Given the description of an element on the screen output the (x, y) to click on. 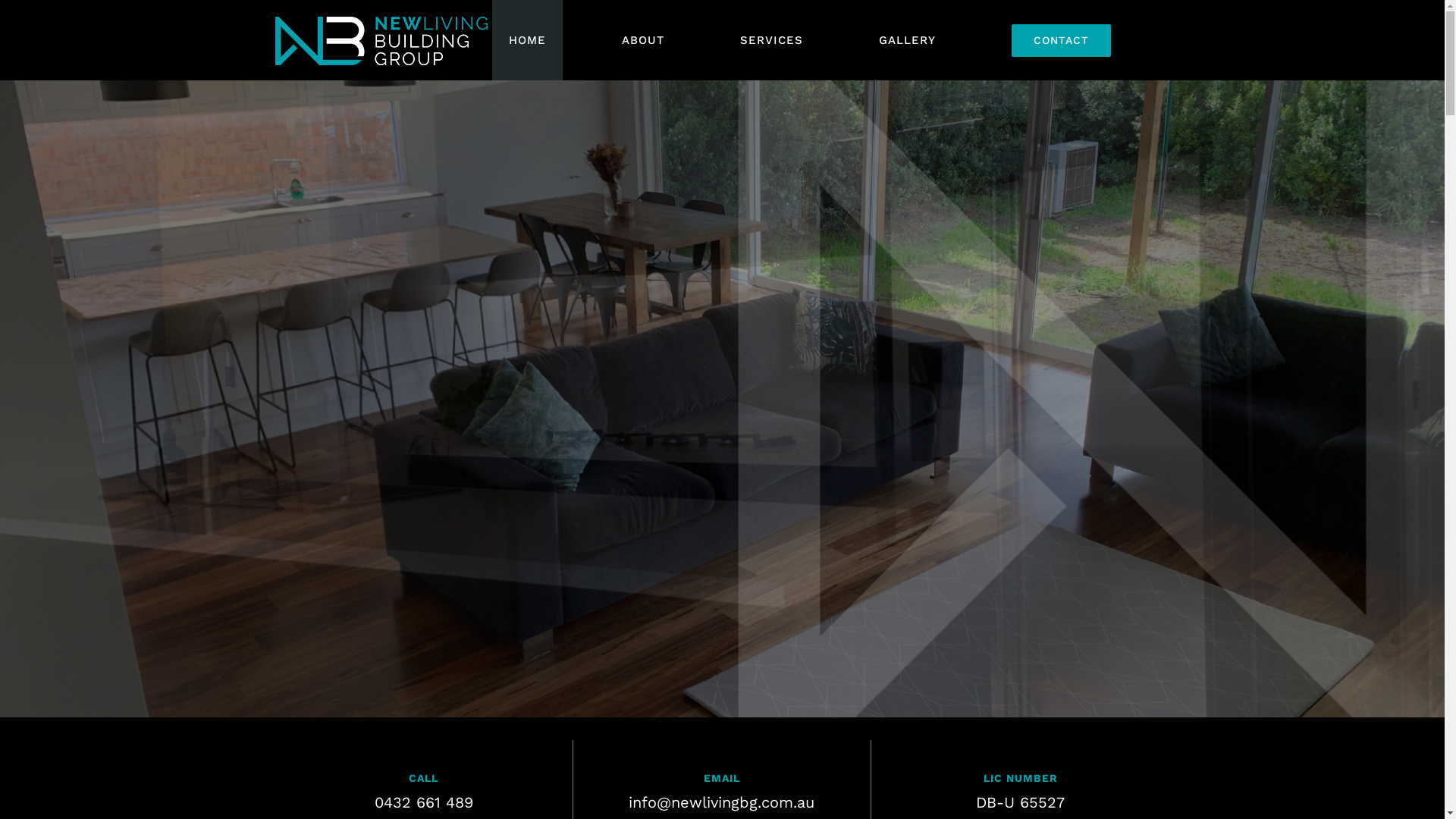
ABOUT Element type: text (642, 40)
CONTACT Element type: text (1060, 40)
0432 661 489 Element type: text (423, 802)
GALLERY Element type: text (906, 40)
info@newlivingbg.com.au Element type: text (721, 802)
HOME Element type: text (526, 40)
SERVICES Element type: text (771, 40)
